Given the description of an element on the screen output the (x, y) to click on. 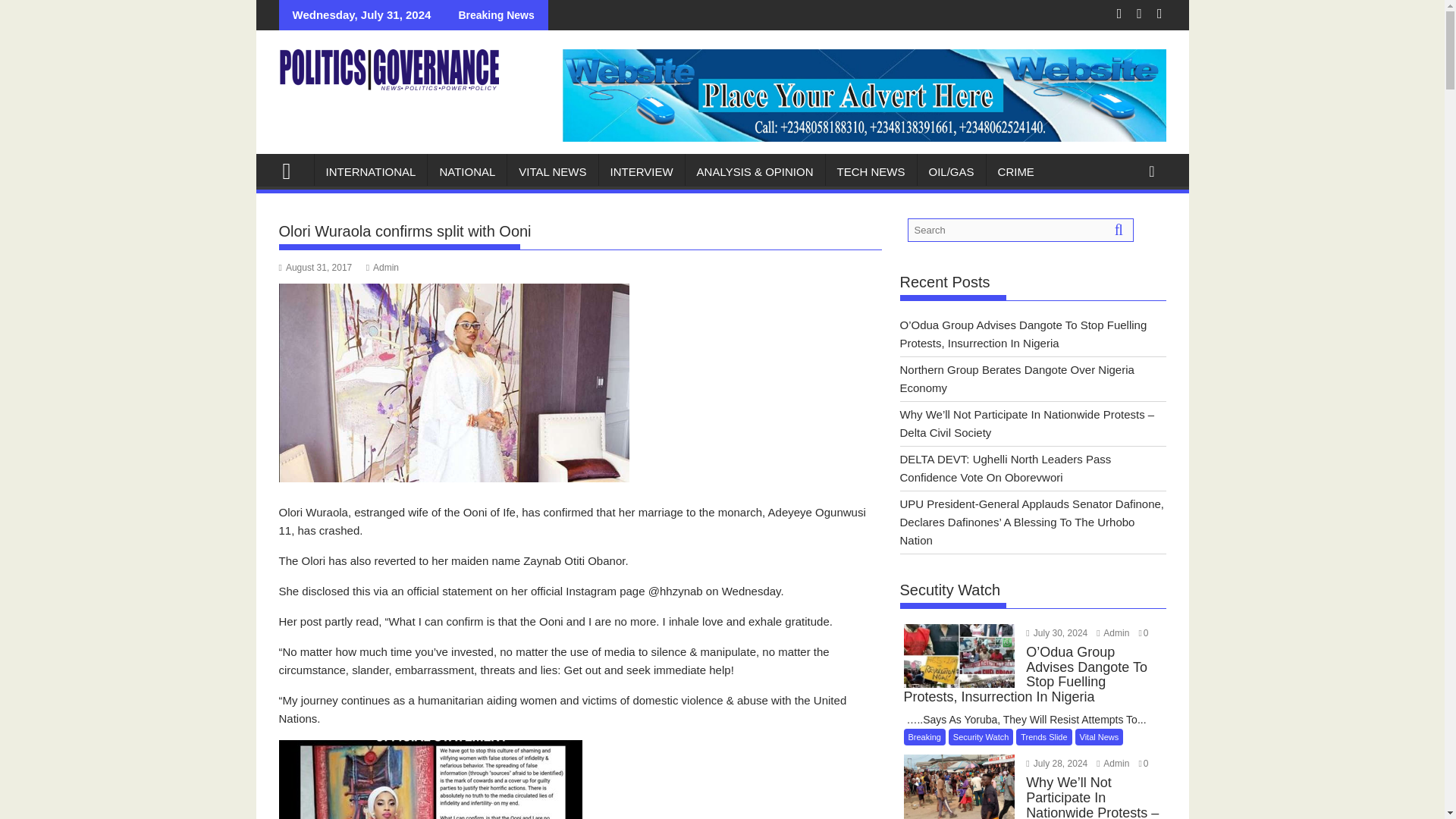
INTERVIEW (641, 171)
CRIME (1016, 171)
VITAL NEWS (551, 171)
Politics Governance (293, 169)
NATIONAL (467, 171)
August 31, 2017 (315, 267)
INTERNATIONAL (370, 171)
Advertisement (580, 593)
TECH NEWS (871, 171)
Admin (382, 267)
